Given the description of an element on the screen output the (x, y) to click on. 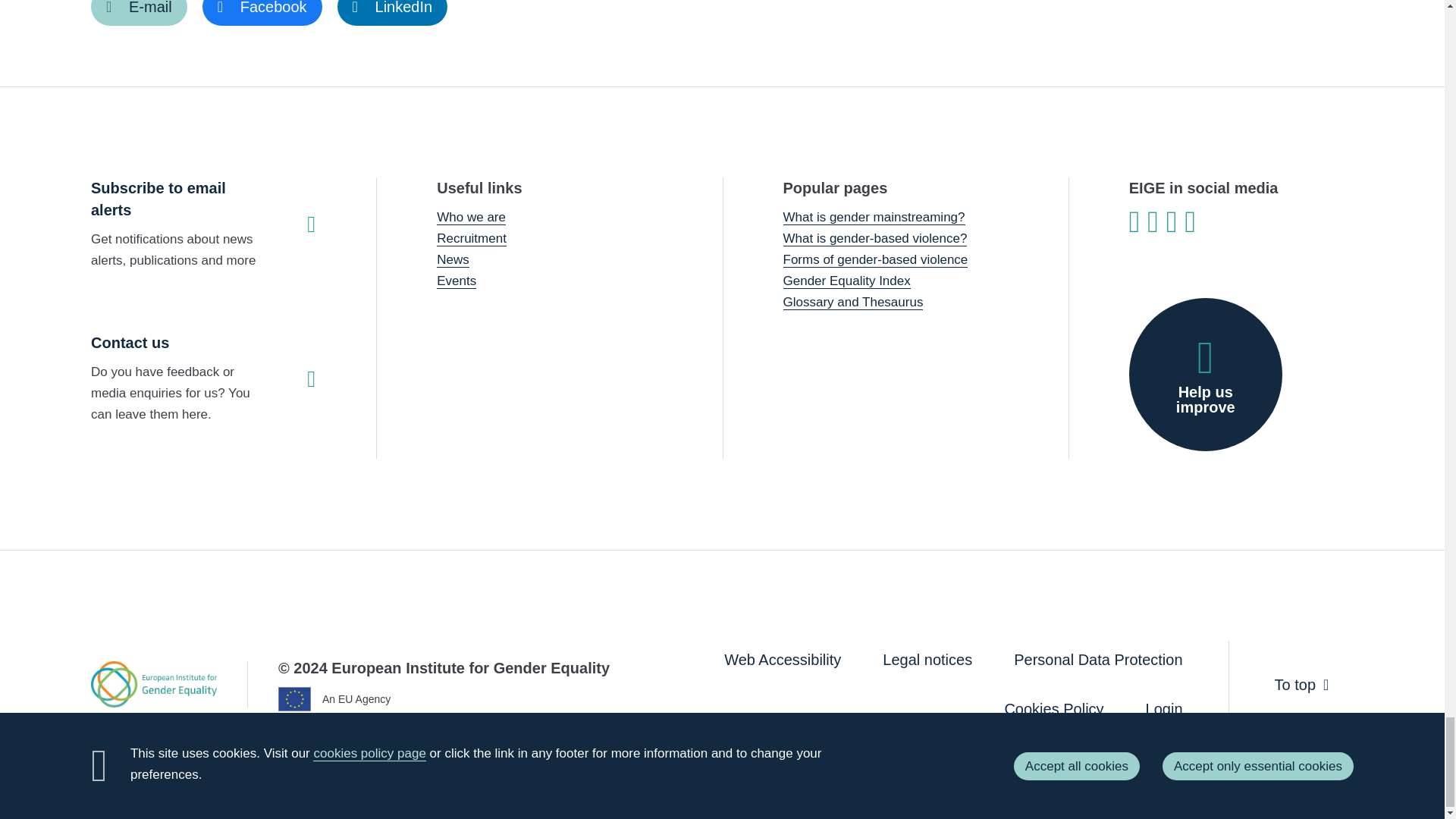
LinkedIn (392, 12)
Facebook (261, 12)
E-mail (138, 12)
